Given the description of an element on the screen output the (x, y) to click on. 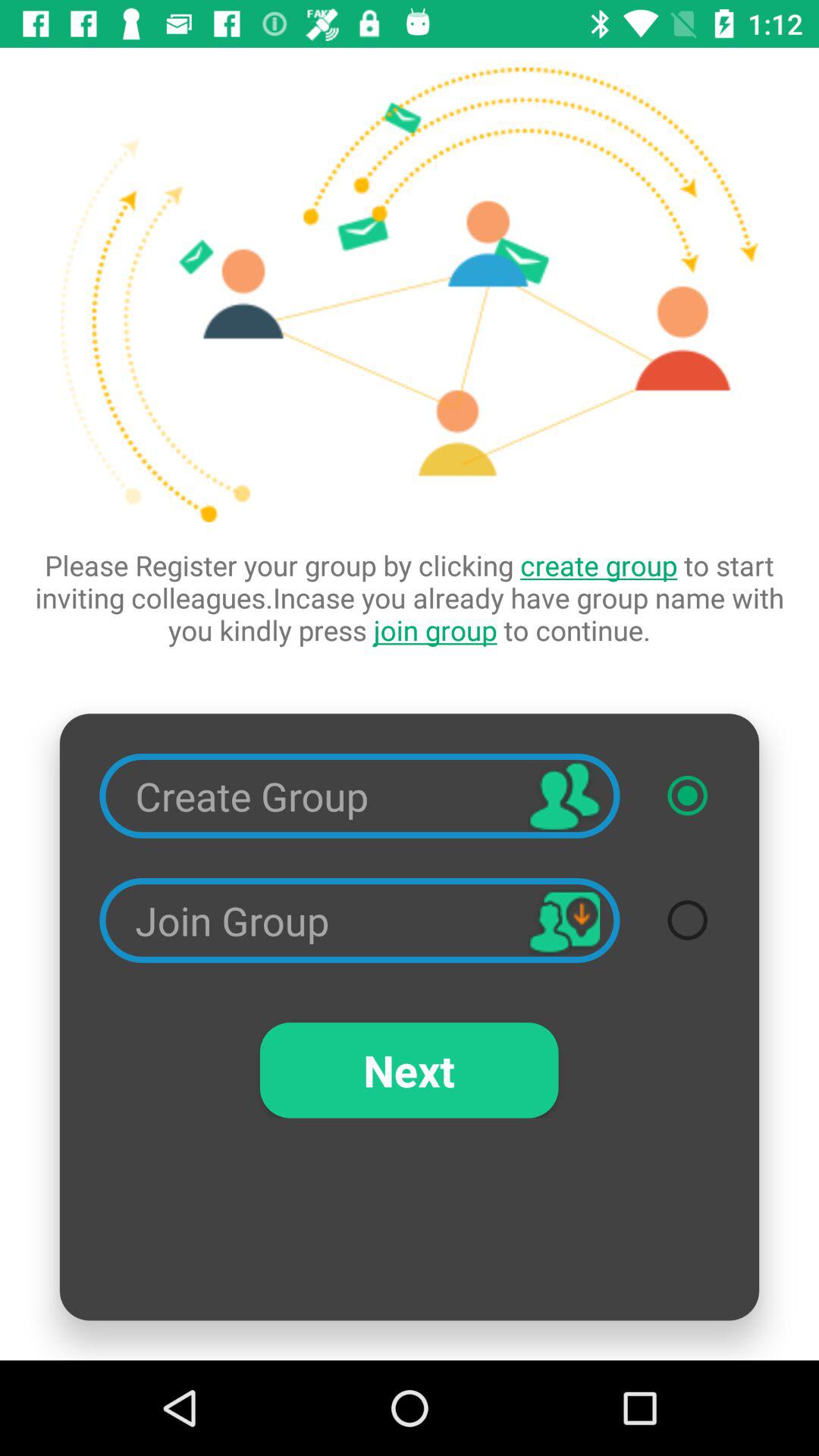
click the item below join group icon (408, 1070)
